Given the description of an element on the screen output the (x, y) to click on. 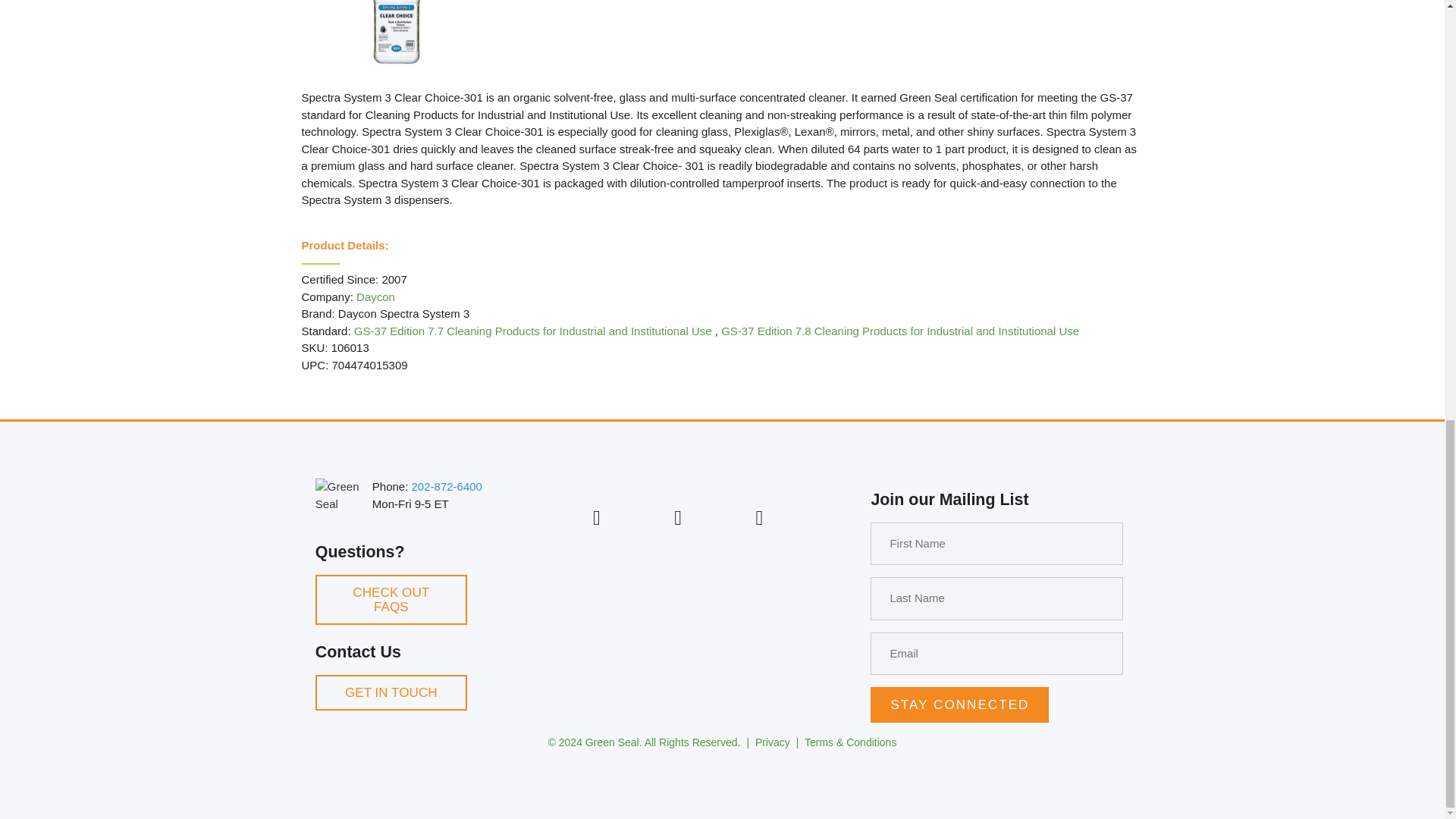
Stay Connected (959, 704)
